Given the description of an element on the screen output the (x, y) to click on. 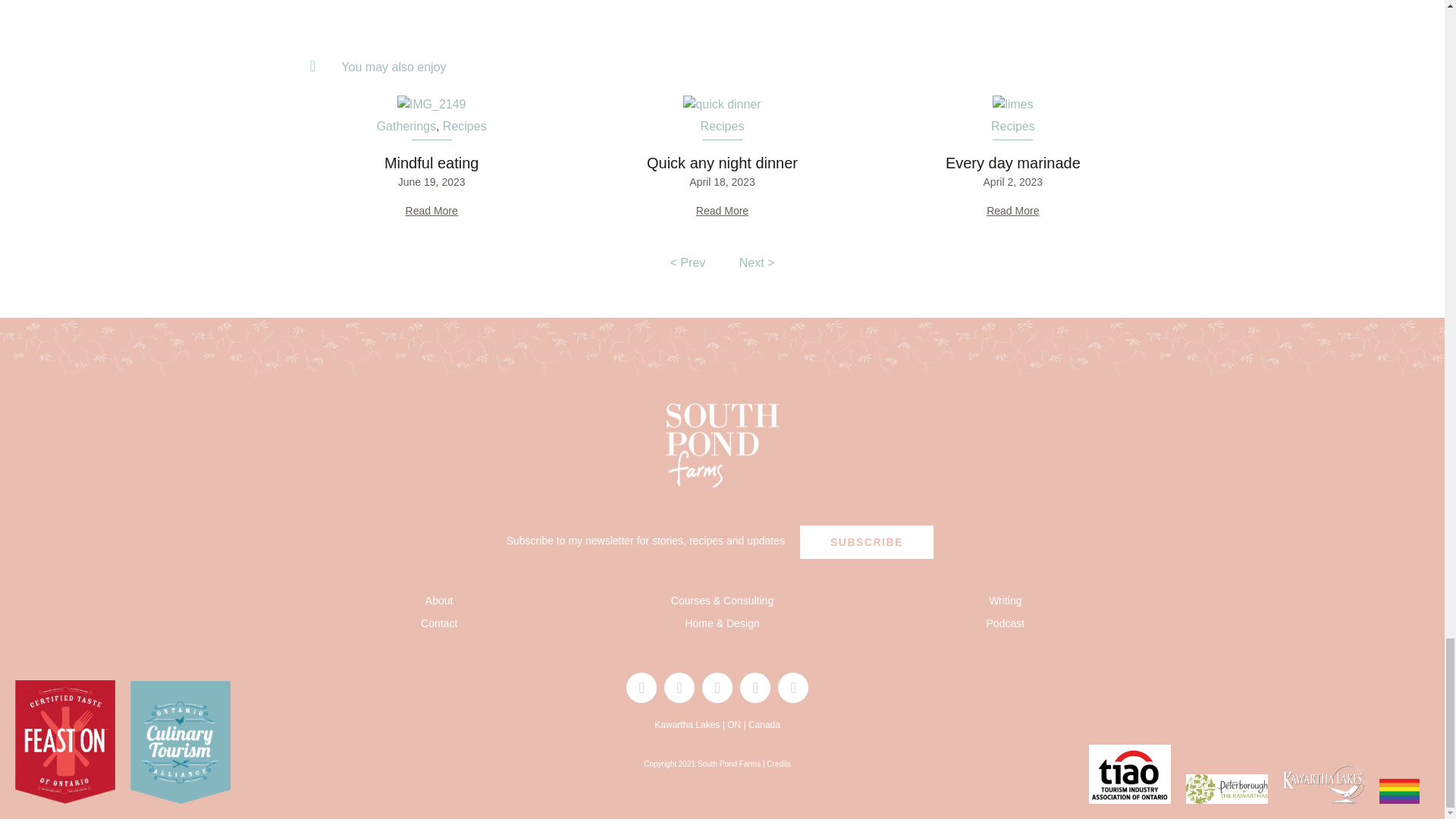
limes (1012, 104)
salmond (721, 104)
